Given the description of an element on the screen output the (x, y) to click on. 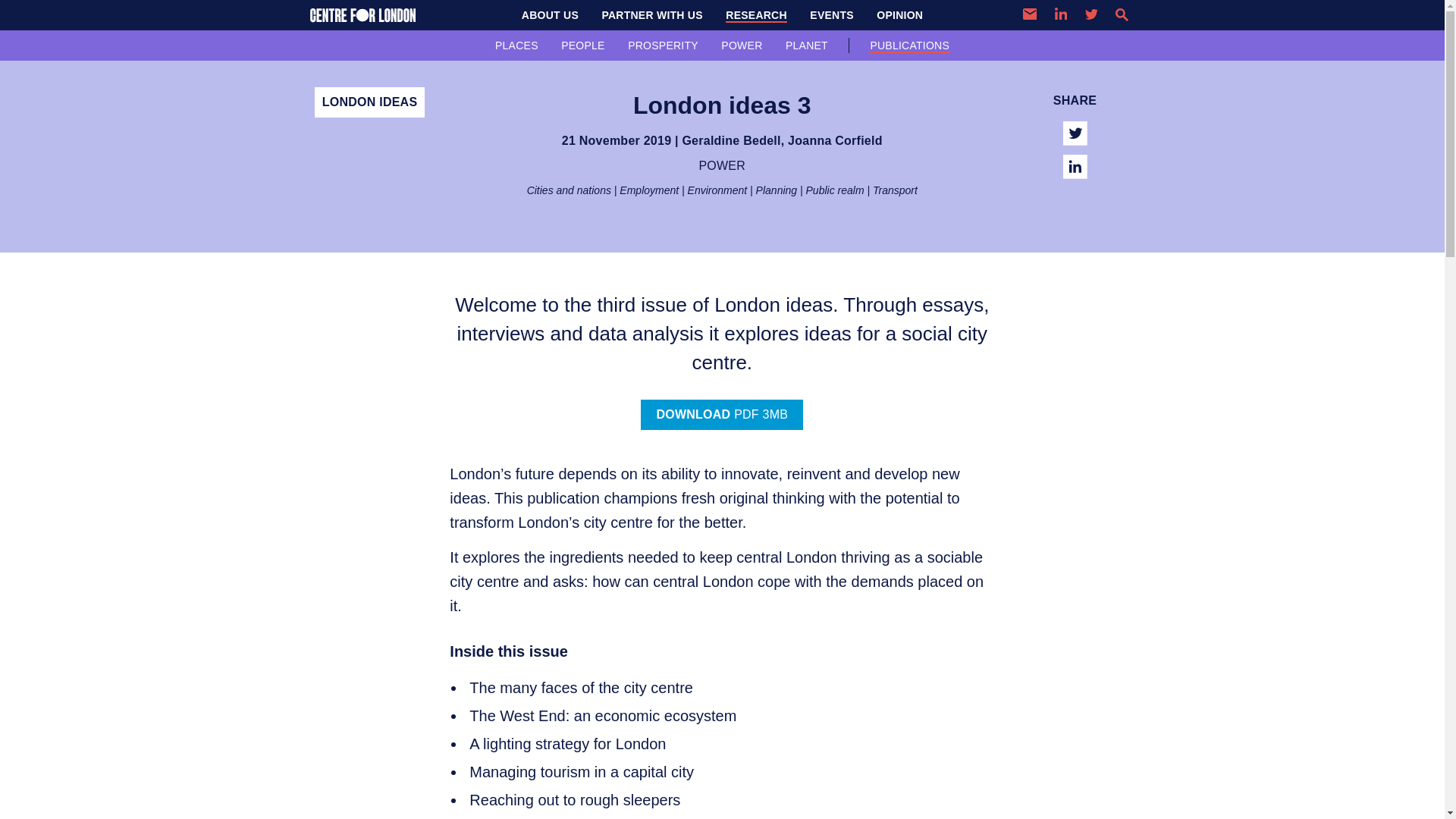
Planning (776, 190)
PLANET (807, 45)
PROSPERITY (662, 45)
Search for content tagged as Public realm (835, 190)
Cities and nations (569, 190)
Environment (717, 190)
Search for content tagged as Environment (717, 190)
Joanna Corfield (834, 140)
PARTNER WITH US (651, 15)
Search for content tagged as Employment (649, 190)
RESEARCH (756, 15)
Search for content tagged as Cities and nations (569, 190)
ABOUT US (550, 15)
Search for content tagged as Planning (776, 190)
Search for content tagged as Transport (894, 190)
